Given the description of an element on the screen output the (x, y) to click on. 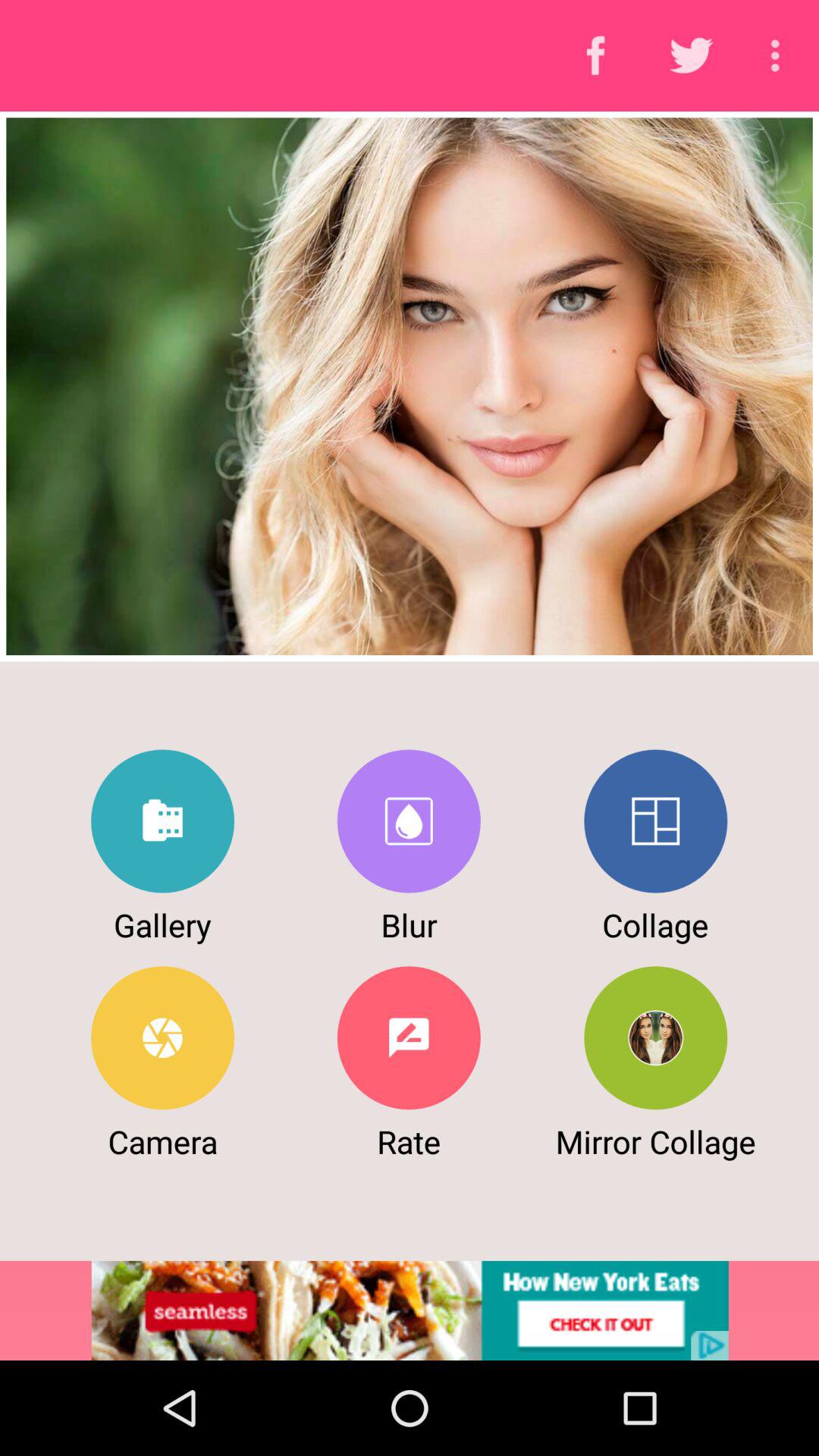
blur photo (408, 820)
